Given the description of an element on the screen output the (x, y) to click on. 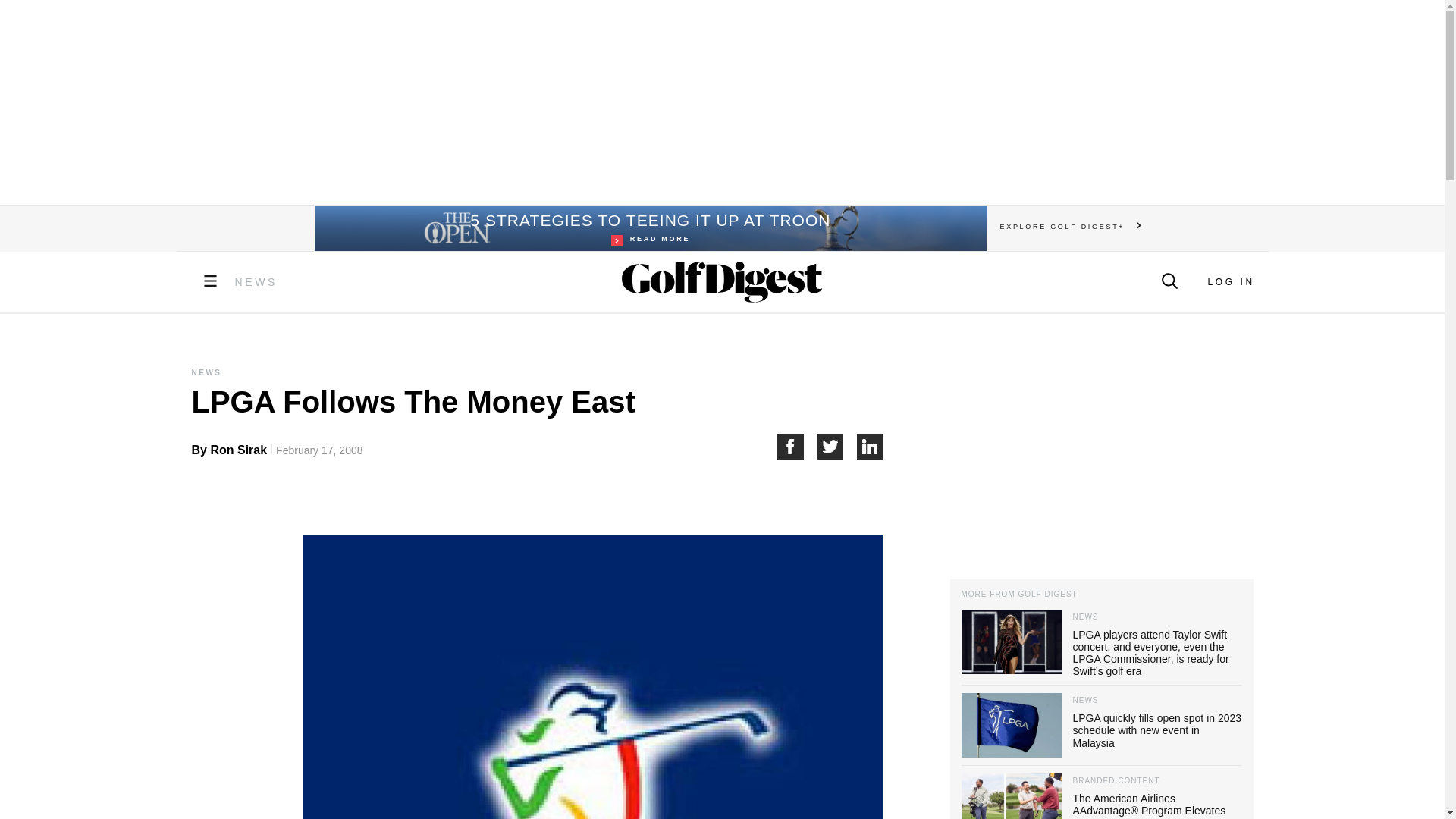
3rd party ad content (1100, 453)
Share on LinkedIn (870, 447)
NEWS (256, 282)
Share on Facebook (796, 447)
LOG IN (1230, 281)
Share on Twitter (836, 447)
